Given the description of an element on the screen output the (x, y) to click on. 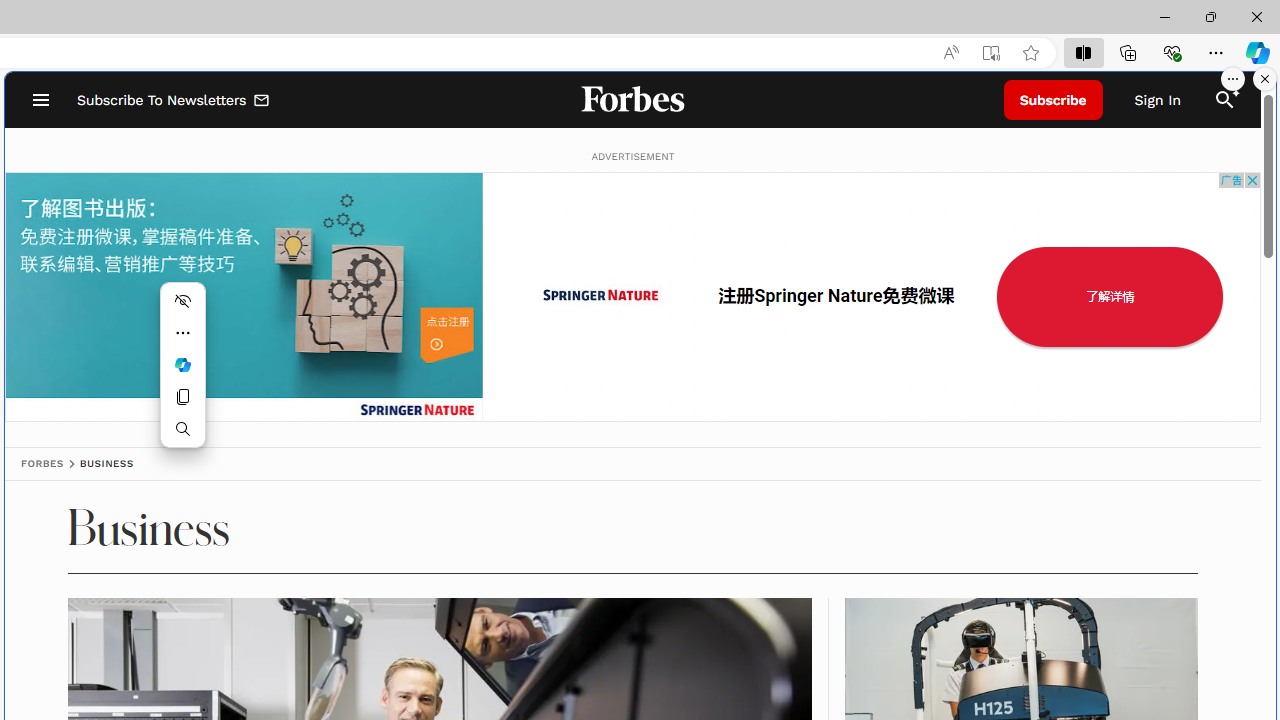
More options. (1233, 79)
Sign In (1157, 100)
Forbes Logo (632, 99)
Mini menu on text selection (182, 364)
BUSINESS (106, 463)
FORBES (42, 463)
Enter Immersive Reader (F9) (991, 53)
Subscribe To Newsletters (173, 99)
Class: envelope_svg__fs-icon envelope_svg__fs-icon--envelope (262, 102)
Mini menu on text selection (182, 376)
